Given the description of an element on the screen output the (x, y) to click on. 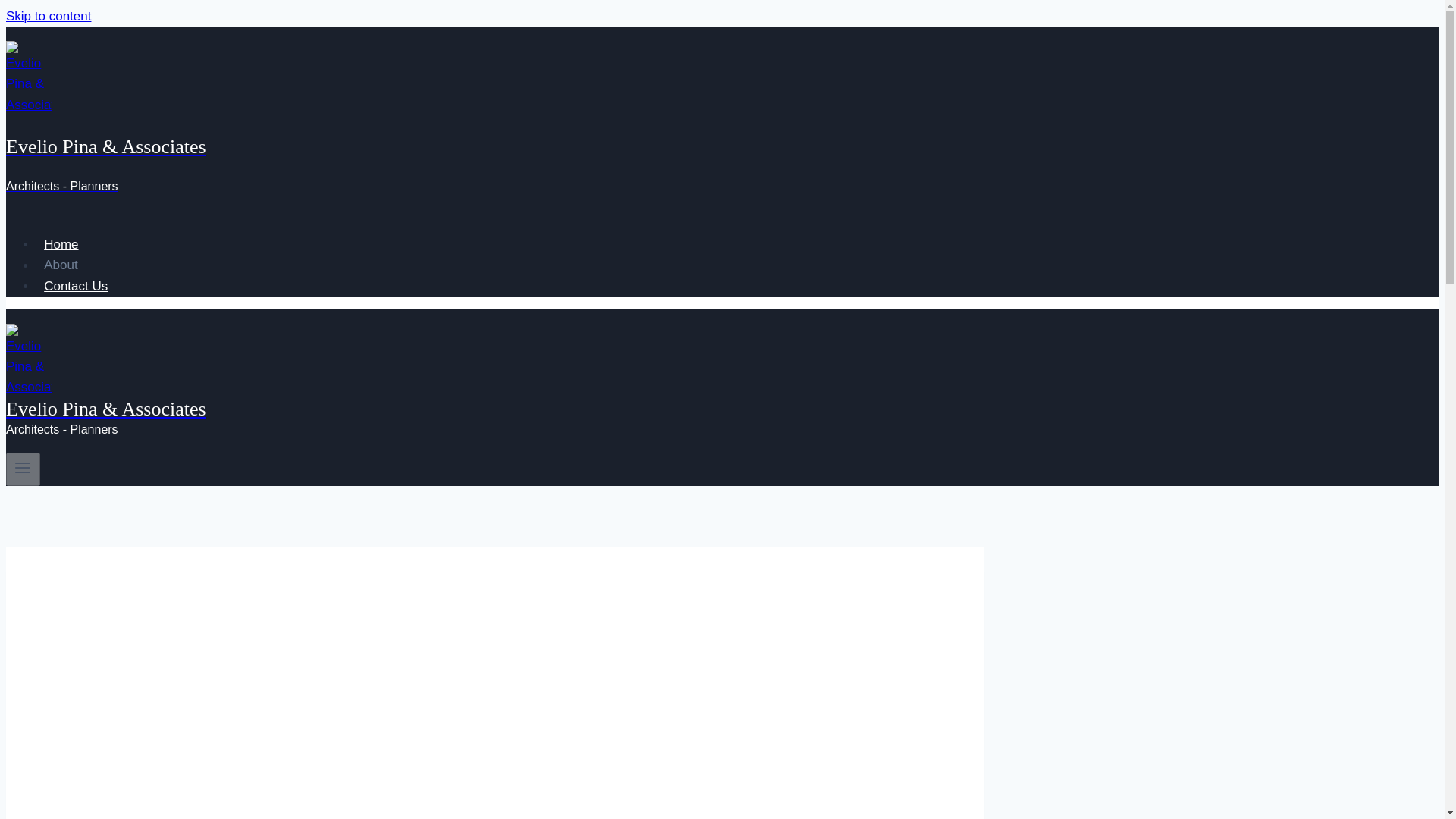
Toggle Menu (22, 467)
Skip to content (47, 16)
Contact Us (75, 286)
Home (60, 244)
Toggle Menu (22, 469)
Skip to content (47, 16)
About (60, 265)
